Given the description of an element on the screen output the (x, y) to click on. 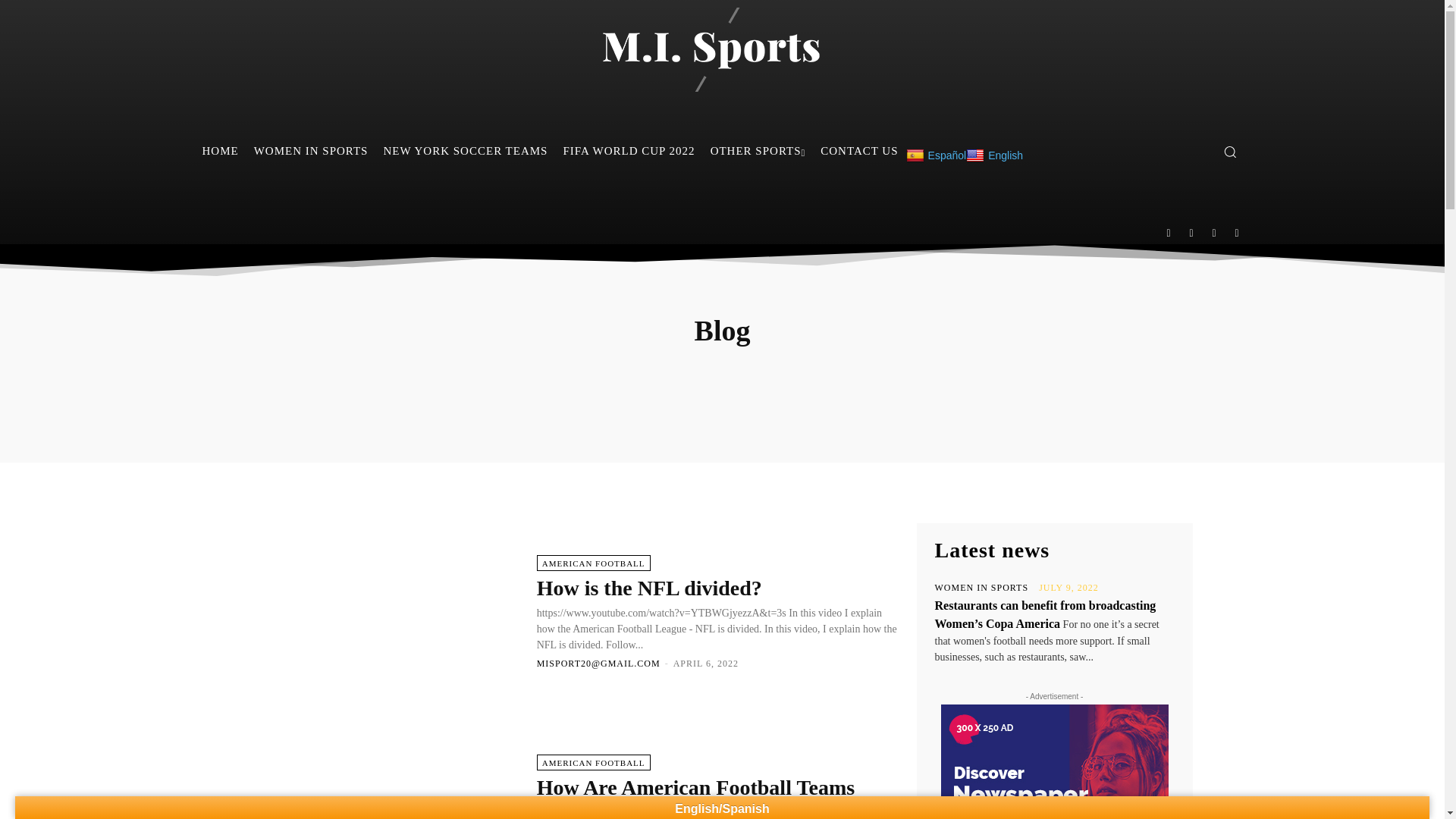
HOME (219, 150)
FIFA WORLD CUP 2022 (627, 150)
English (994, 155)
TikTok (1214, 233)
WOMEN IN SPORTS (310, 150)
NEW YORK SOCCER TEAMS (464, 150)
How is the NFL divided? (395, 611)
English (994, 155)
How is the NFL divided? (649, 587)
Youtube (1237, 233)
